Given the description of an element on the screen output the (x, y) to click on. 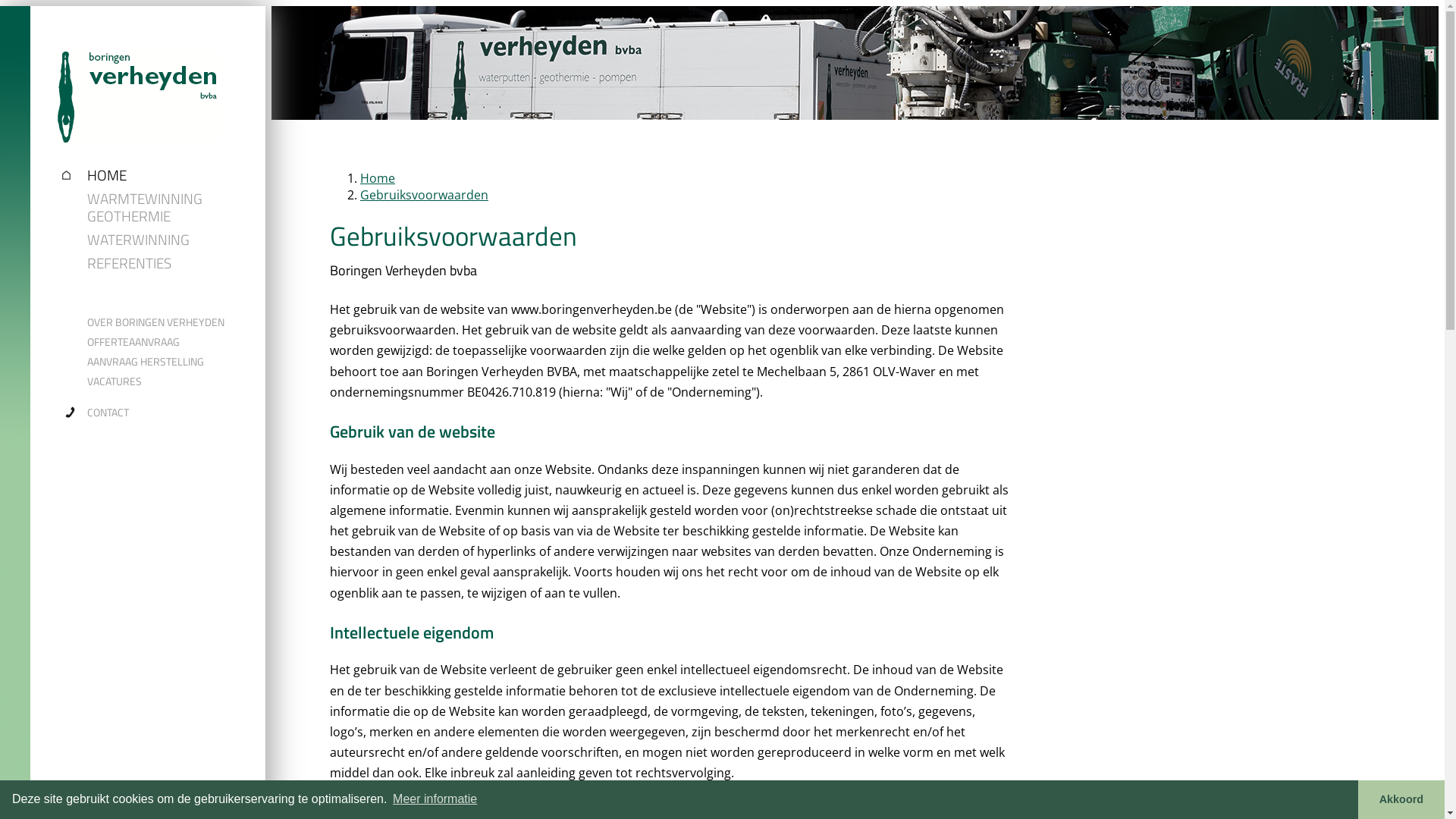
Gebruiksvoorwaarden Element type: text (424, 194)
WATERWINNING Element type: text (166, 239)
WARMTEWINNING
GEOTHERMIE Element type: text (166, 206)
Home Element type: text (377, 177)
AANVRAAG HERSTELLING Element type: text (166, 361)
OVER BORINGEN VERHEYDEN Element type: text (166, 322)
Meer informatie Element type: text (435, 798)
Putboringen Verheyden | Geothermie & Waterputten Element type: hover (137, 128)
OFFERTEAANVRAAG Element type: text (166, 341)
CONTACT Element type: text (166, 412)
VACATURES Element type: text (166, 381)
REFERENTIES Element type: text (166, 262)
HOME Element type: text (166, 174)
